Given the description of an element on the screen output the (x, y) to click on. 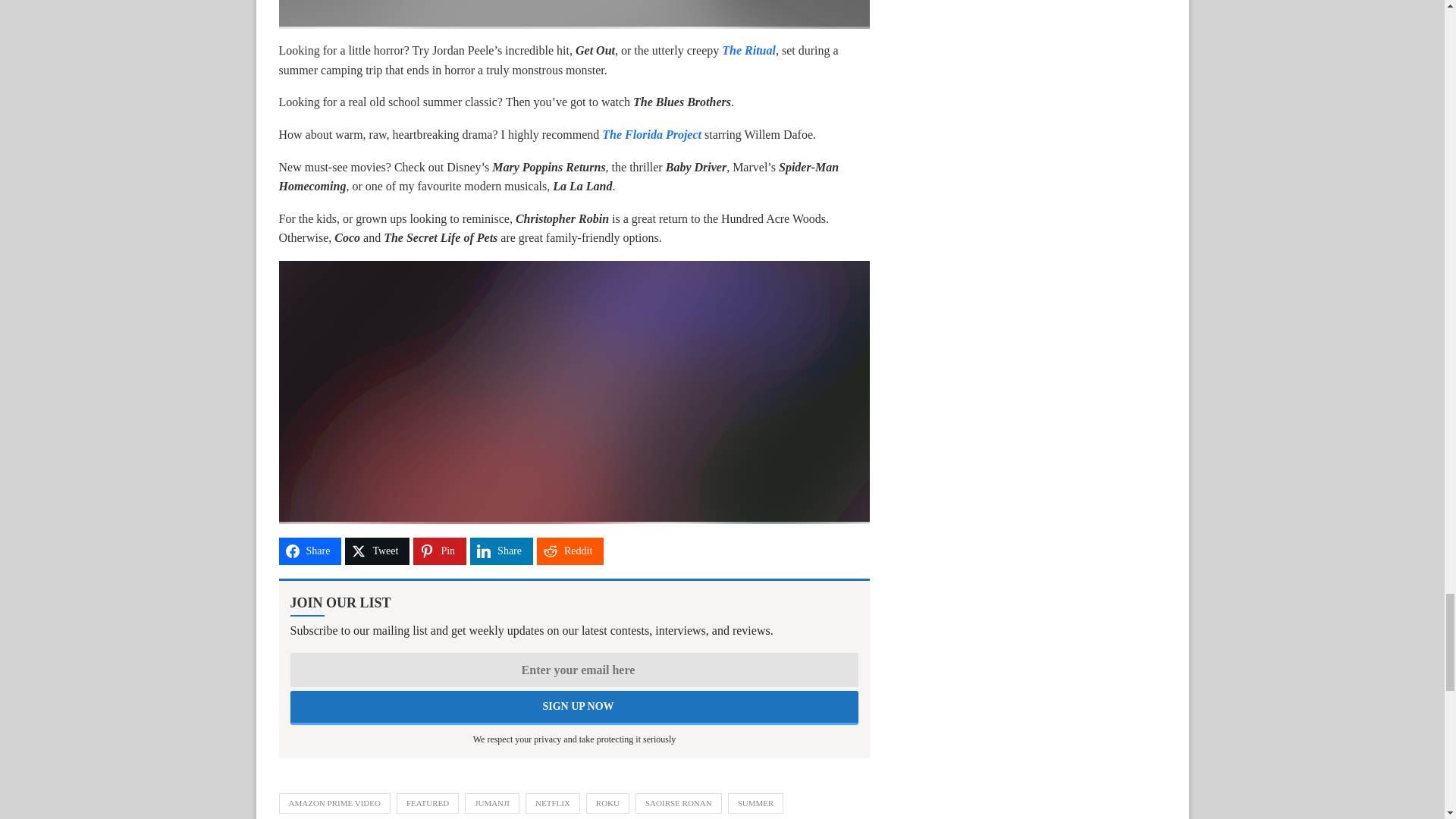
Sign Up Now (574, 707)
Share on Tweet (377, 551)
Share on Share (310, 551)
Share (501, 551)
The Ritual (749, 50)
The Florida Project (651, 133)
Share on Pin (439, 551)
Pin (439, 551)
Share on Share (501, 551)
Share on Reddit (570, 551)
Share (310, 551)
Tweet (377, 551)
